Given the description of an element on the screen output the (x, y) to click on. 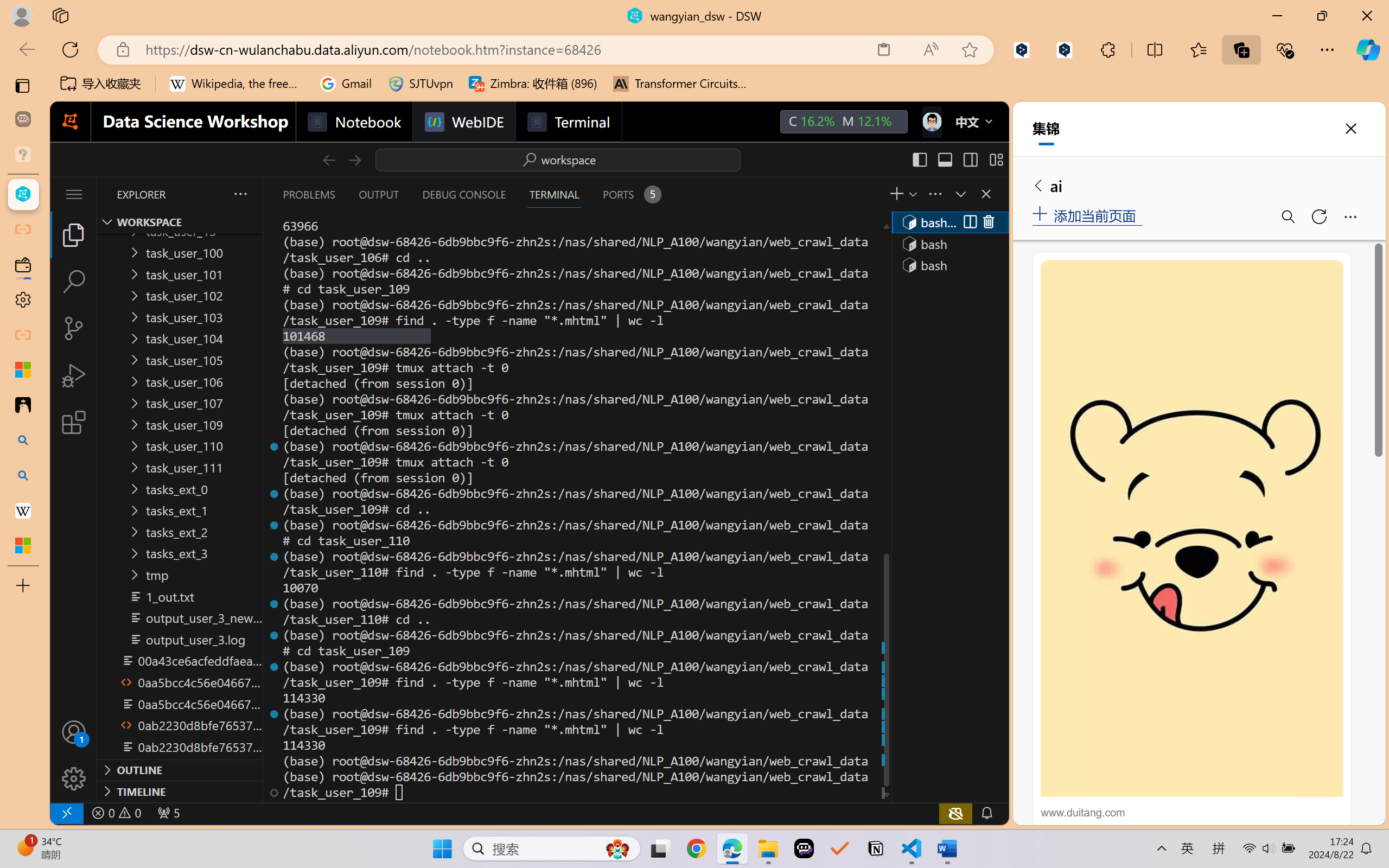
Terminal 1 bash (949, 221)
Ports - 5 forwarded ports (630, 194)
Restore Panel Size (959, 193)
Explorer actions (211, 194)
